Given the description of an element on the screen output the (x, y) to click on. 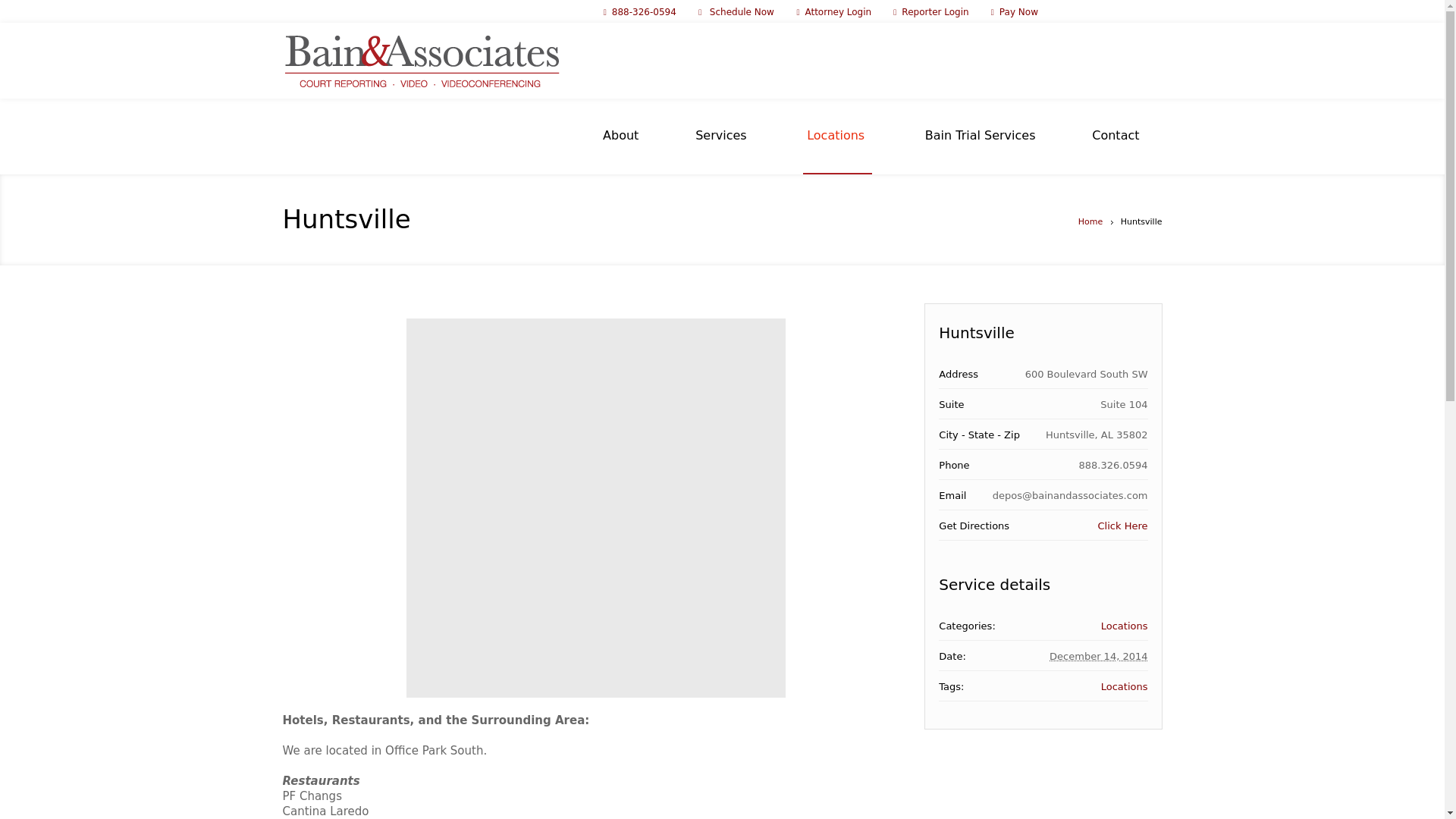
Bain Trial Services (979, 135)
Locations (1124, 686)
Reporter Login (934, 11)
Click Here (1122, 525)
Attorney Login (837, 11)
About (620, 135)
Home (1090, 221)
Services (720, 135)
Locations (1124, 625)
Pay Now (1018, 11)
